Given the description of an element on the screen output the (x, y) to click on. 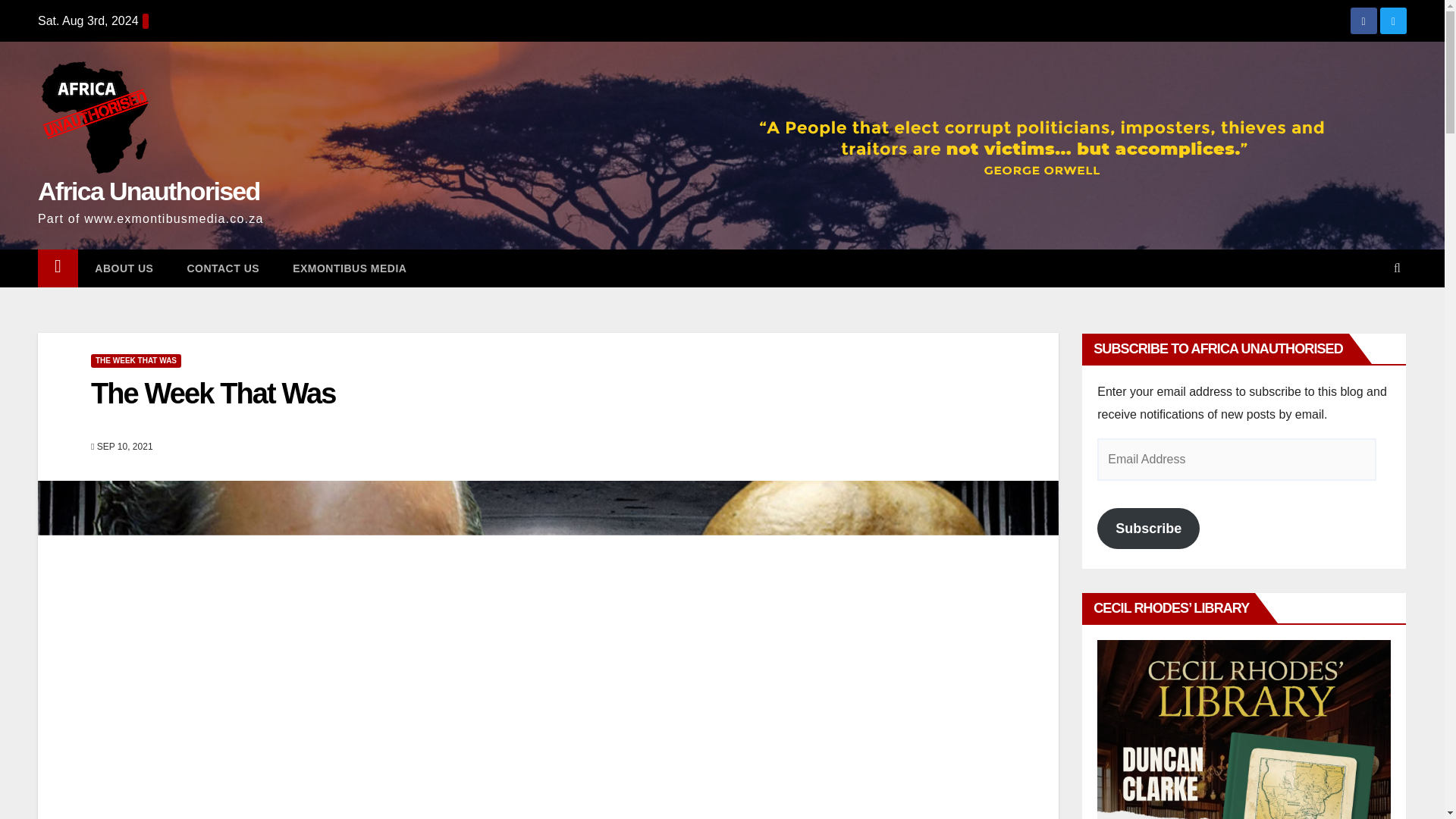
Subscribe (1148, 527)
EXMONTIBUS MEDIA (349, 268)
Permalink to: The Week That Was (212, 393)
ADVERTISE WITH AFRICA UNAUTHORISED (1243, 729)
The Week That Was (212, 393)
CONTACT US (223, 268)
ABOUT US (124, 268)
THE WEEK THAT WAS (135, 360)
Africa Unauthorised (148, 190)
